Given the description of an element on the screen output the (x, y) to click on. 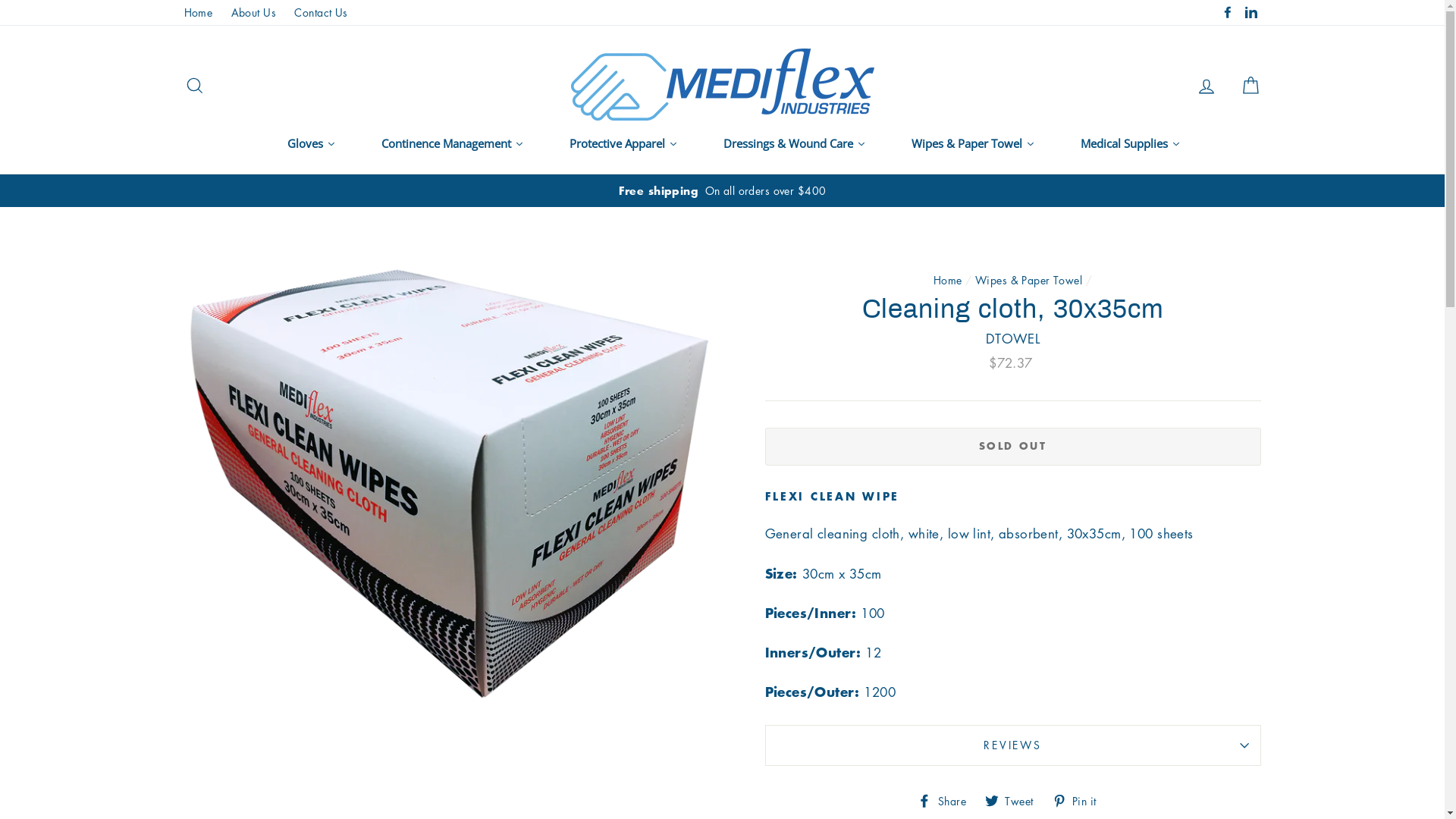
Wipes & Paper Towel Element type: text (1028, 279)
REVIEWS Element type: text (1012, 744)
Share
Share on Facebook Element type: text (947, 799)
Log in Element type: text (1206, 84)
Facebook Element type: text (1227, 12)
LinkedIn Element type: text (1250, 12)
SOLD OUT Element type: text (1012, 446)
Skip to content Element type: text (0, 0)
Home Element type: text (947, 279)
Search Element type: text (193, 84)
About Us Element type: text (253, 12)
Gloves Element type: text (310, 143)
Tweet
Tweet on Twitter Element type: text (1014, 799)
Cart Element type: text (1249, 84)
Continence Management Element type: text (451, 143)
Medical Supplies Element type: text (1129, 143)
Protective Apparel Element type: text (622, 143)
Wipes & Paper Towel Element type: text (972, 143)
Contact Us Element type: text (320, 12)
Dressings & Wound Care Element type: text (794, 143)
Home Element type: text (197, 12)
Pin it
Pin on Pinterest Element type: text (1079, 799)
